Given the description of an element on the screen output the (x, y) to click on. 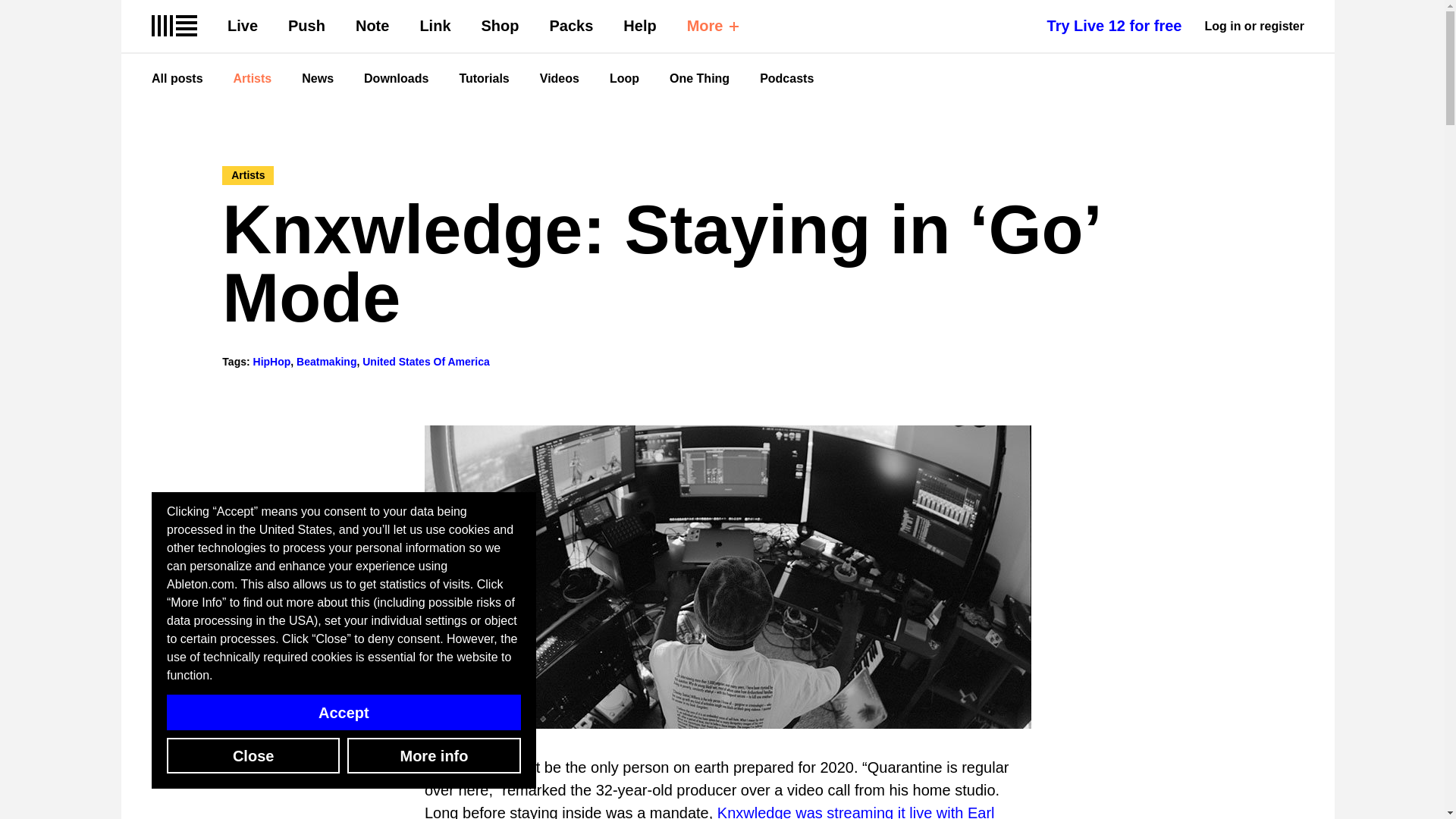
Downloads (396, 78)
All posts (177, 78)
Push (306, 25)
Loop (624, 78)
Live (242, 25)
Log in or register (1254, 25)
Help (639, 25)
News (317, 78)
Videos (559, 78)
Packs (572, 25)
